Given the description of an element on the screen output the (x, y) to click on. 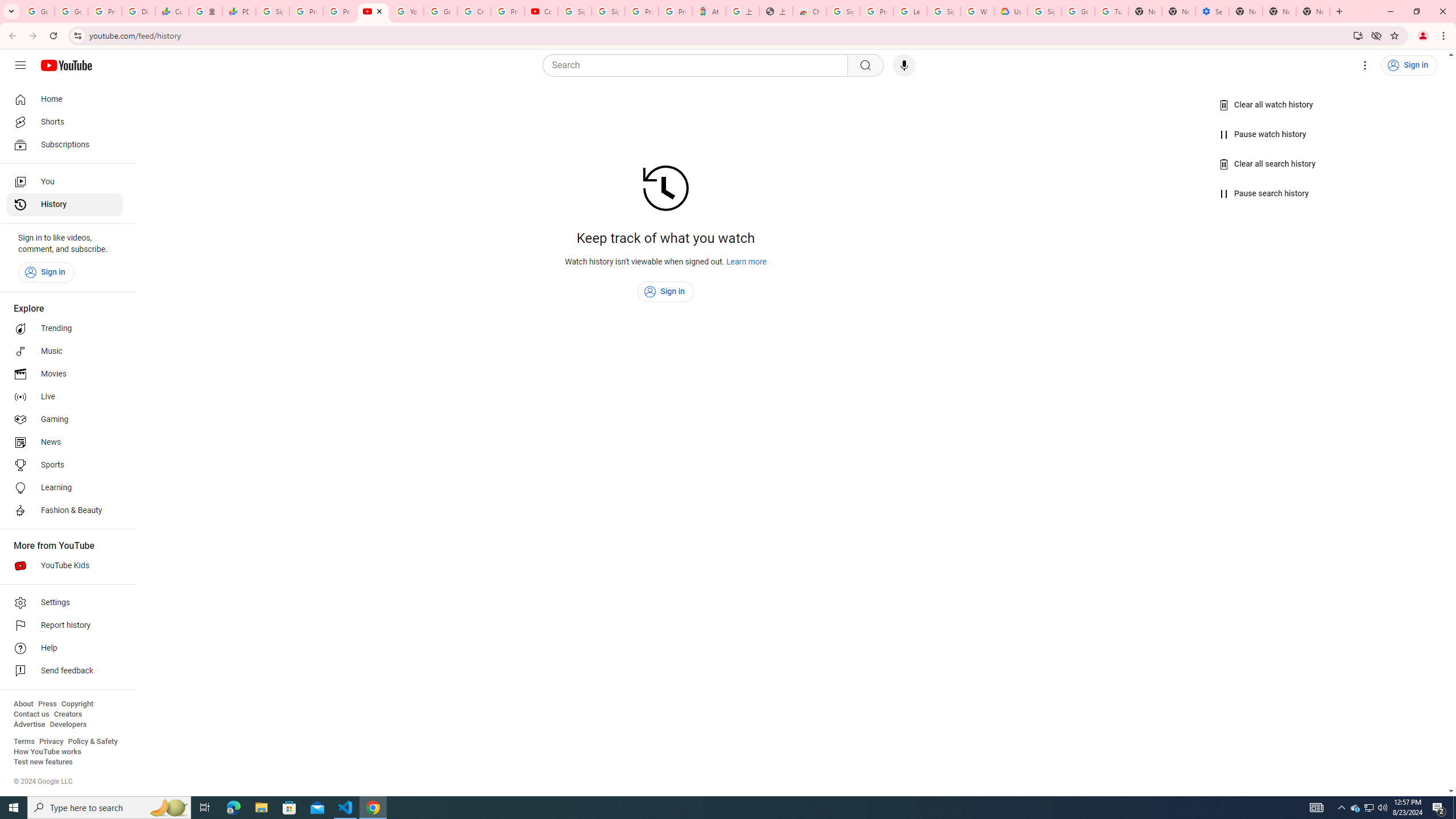
Settings - Addresses and more (1212, 11)
Trending (64, 328)
Creators (67, 714)
Home (64, 99)
Search with your voice (903, 65)
YouTube (372, 11)
Developers (68, 724)
View site information (77, 35)
Search (697, 65)
Privacy Checkup (339, 11)
